Given the description of an element on the screen output the (x, y) to click on. 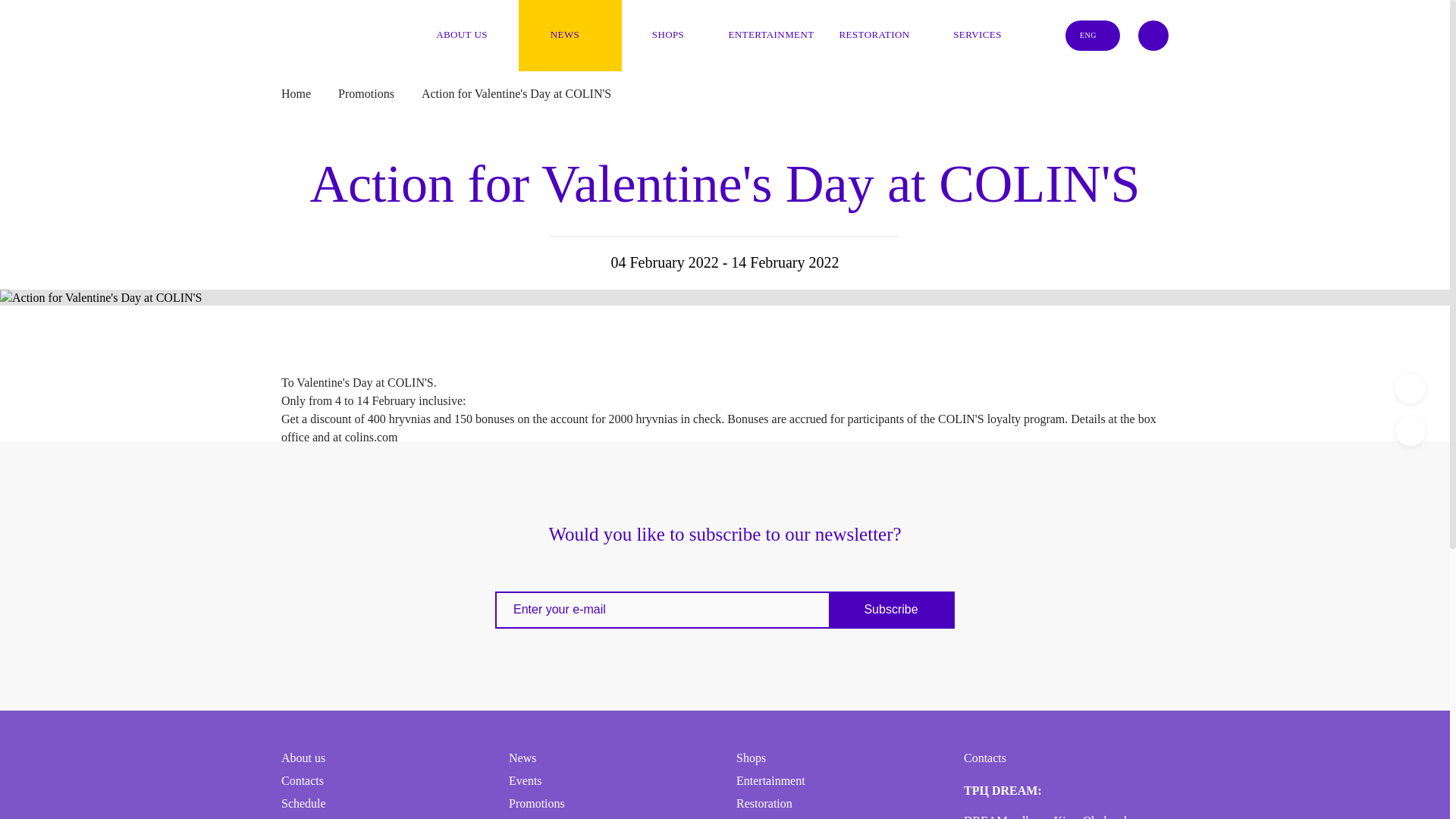
ENTERTAINMENT (776, 35)
SHOPS (673, 35)
NEWS (569, 35)
DreamTown (312, 24)
Entertainment (776, 35)
RESTORATION (879, 35)
News (569, 35)
ABOUT US (466, 35)
Shops (673, 35)
DreamTown (312, 24)
